Given the description of an element on the screen output the (x, y) to click on. 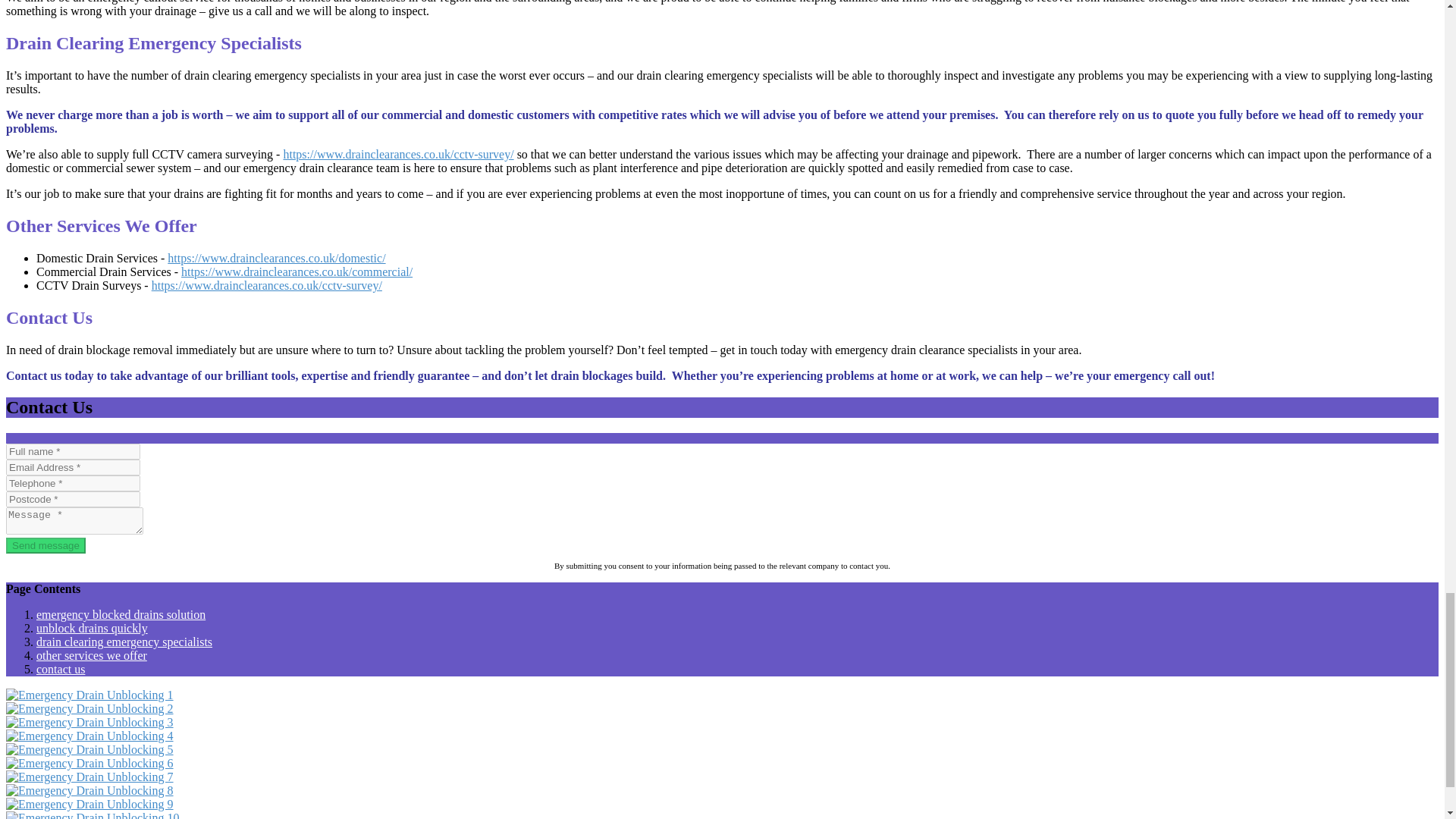
Emergency Drain Unblocking 2 (89, 708)
Emergency Drain Unblocking 8 (89, 790)
Emergency Drain Unblocking 10 (92, 815)
Emergency Drain Unblocking 5 (89, 749)
Emergency Drain Unblocking 3 (89, 722)
Send message (45, 545)
Emergency Drain Unblocking 6 (89, 763)
Emergency Drain Unblocking 7 (89, 776)
Emergency Drain Unblocking 4 (89, 735)
Emergency Drain Unblocking 9 (89, 804)
Emergency Drain Unblocking 1 (89, 694)
